Given the description of an element on the screen output the (x, y) to click on. 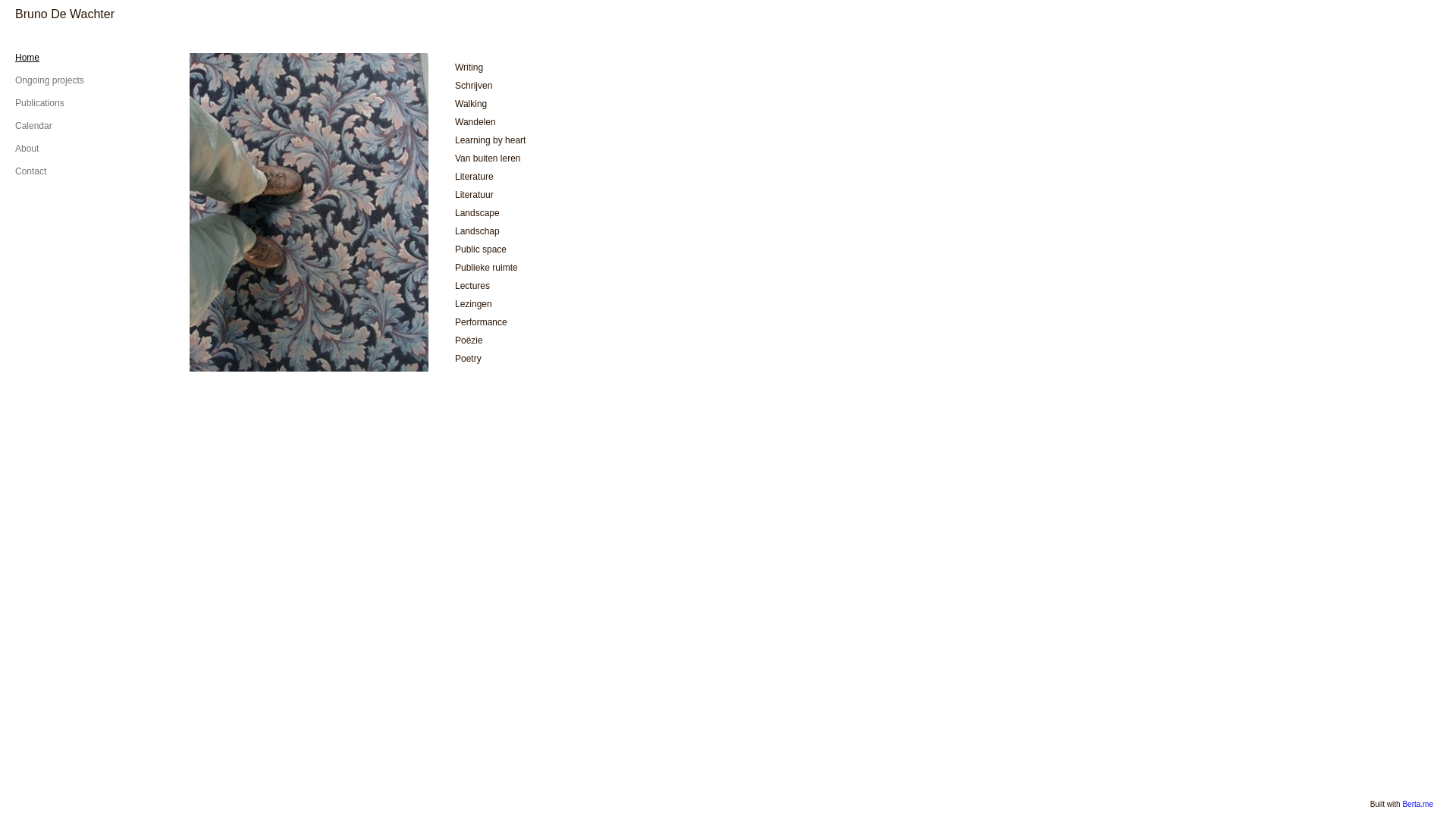
About Element type: text (26, 148)
Publications Element type: text (39, 102)
Home Element type: text (27, 57)
Calendar Element type: text (33, 125)
Berta.me Element type: text (1417, 804)
Ongoing projects Element type: text (49, 80)
Contact Element type: text (30, 171)
